Given the description of an element on the screen output the (x, y) to click on. 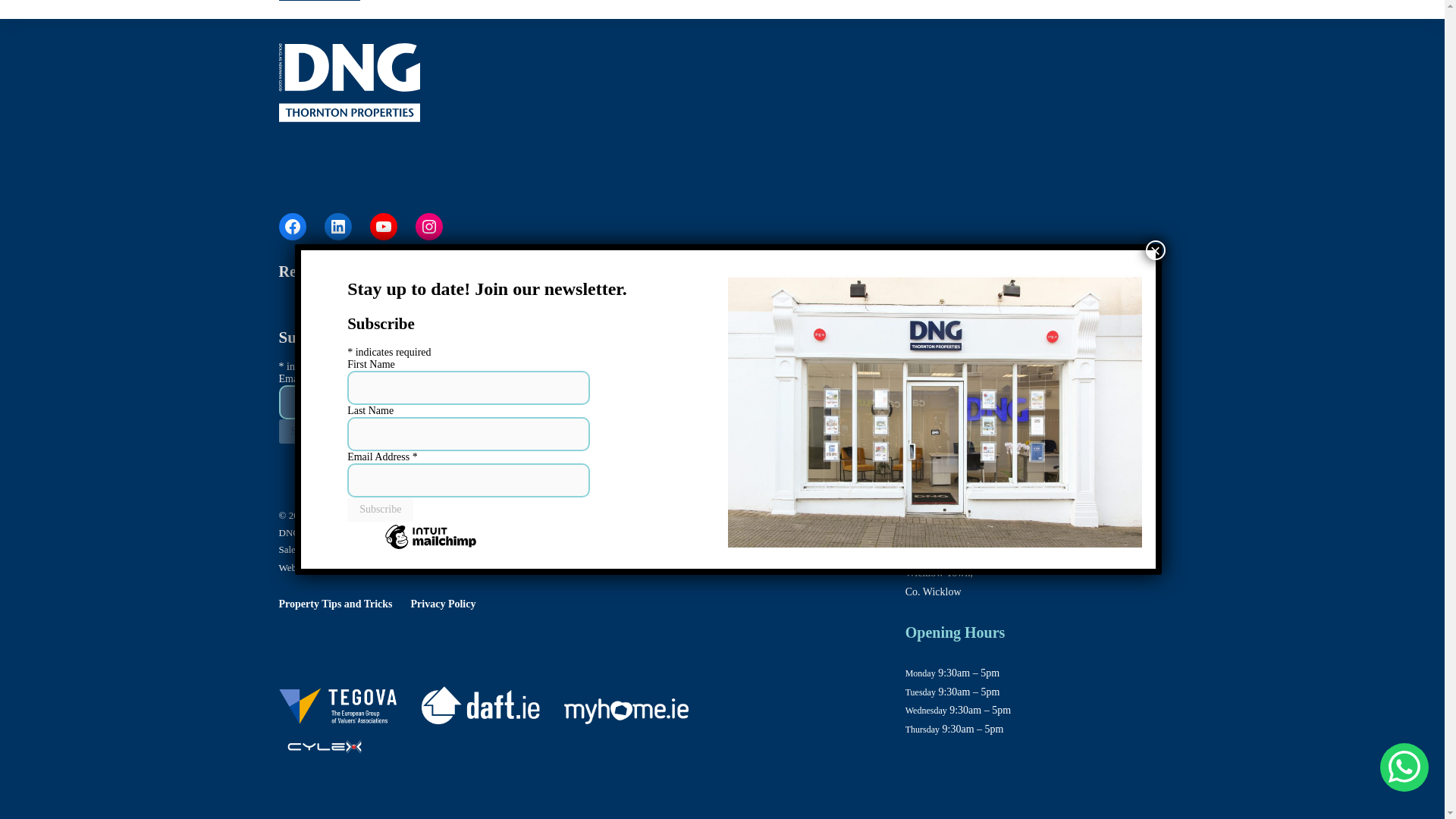
Valuations (1015, 6)
Privacy Policy (443, 603)
About (768, 271)
Contact (832, 271)
Commercial (408, 271)
More (1142, 6)
Subscribe (312, 431)
Subscribe (380, 422)
Mailchimp - email marketing made easy and fun (362, 470)
getButterfly (452, 567)
Residential (315, 271)
technical SEO (386, 567)
Mailchimp - email marketing made easy and fun (430, 461)
Area Guides (689, 271)
Valuations (501, 271)
